Given the description of an element on the screen output the (x, y) to click on. 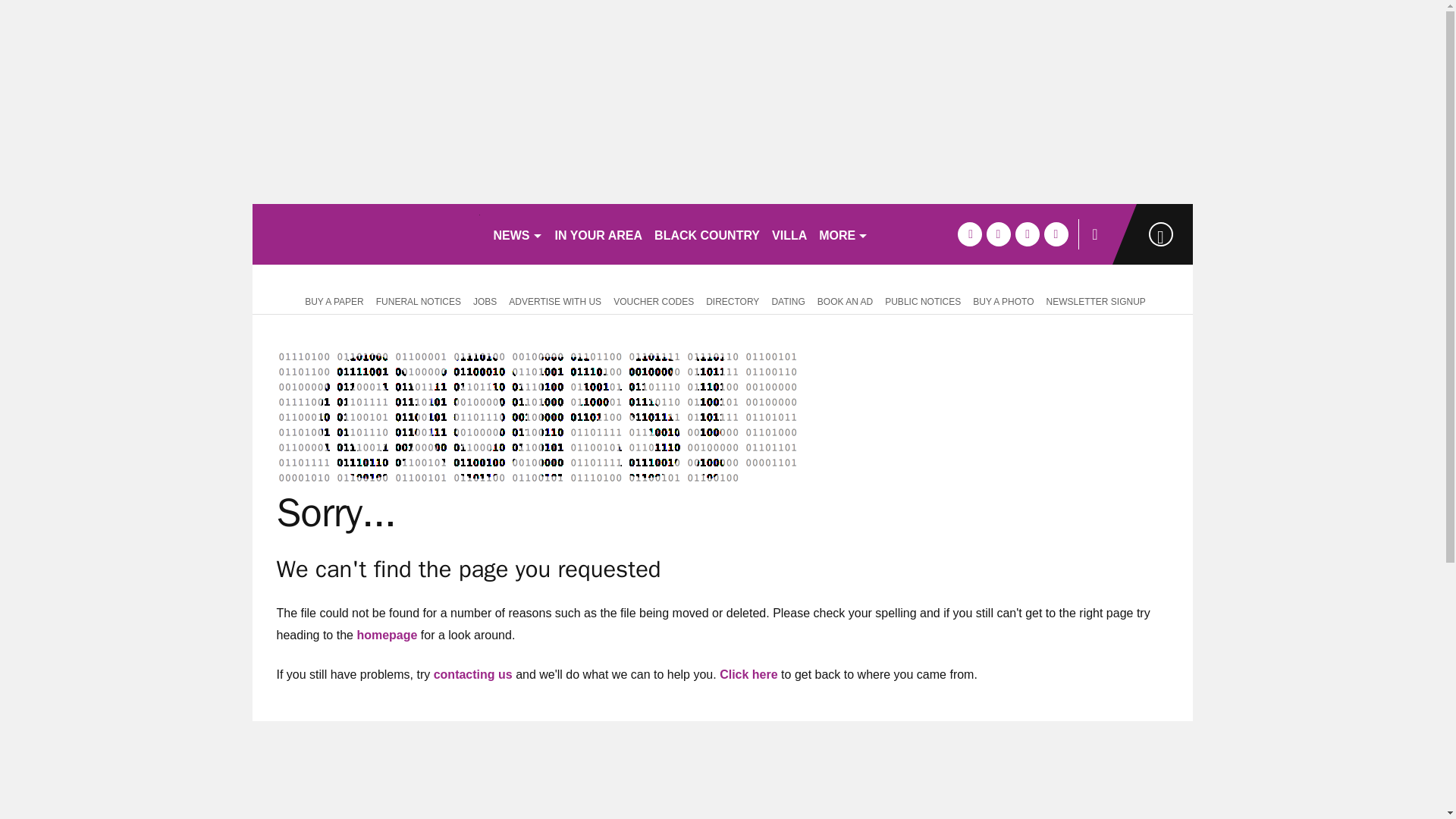
IN YOUR AREA (598, 233)
birminghammail (365, 233)
NEWS (517, 233)
tiktok (1026, 233)
MORE (843, 233)
instagram (1055, 233)
facebook (968, 233)
BLACK COUNTRY (706, 233)
twitter (997, 233)
